Given the description of an element on the screen output the (x, y) to click on. 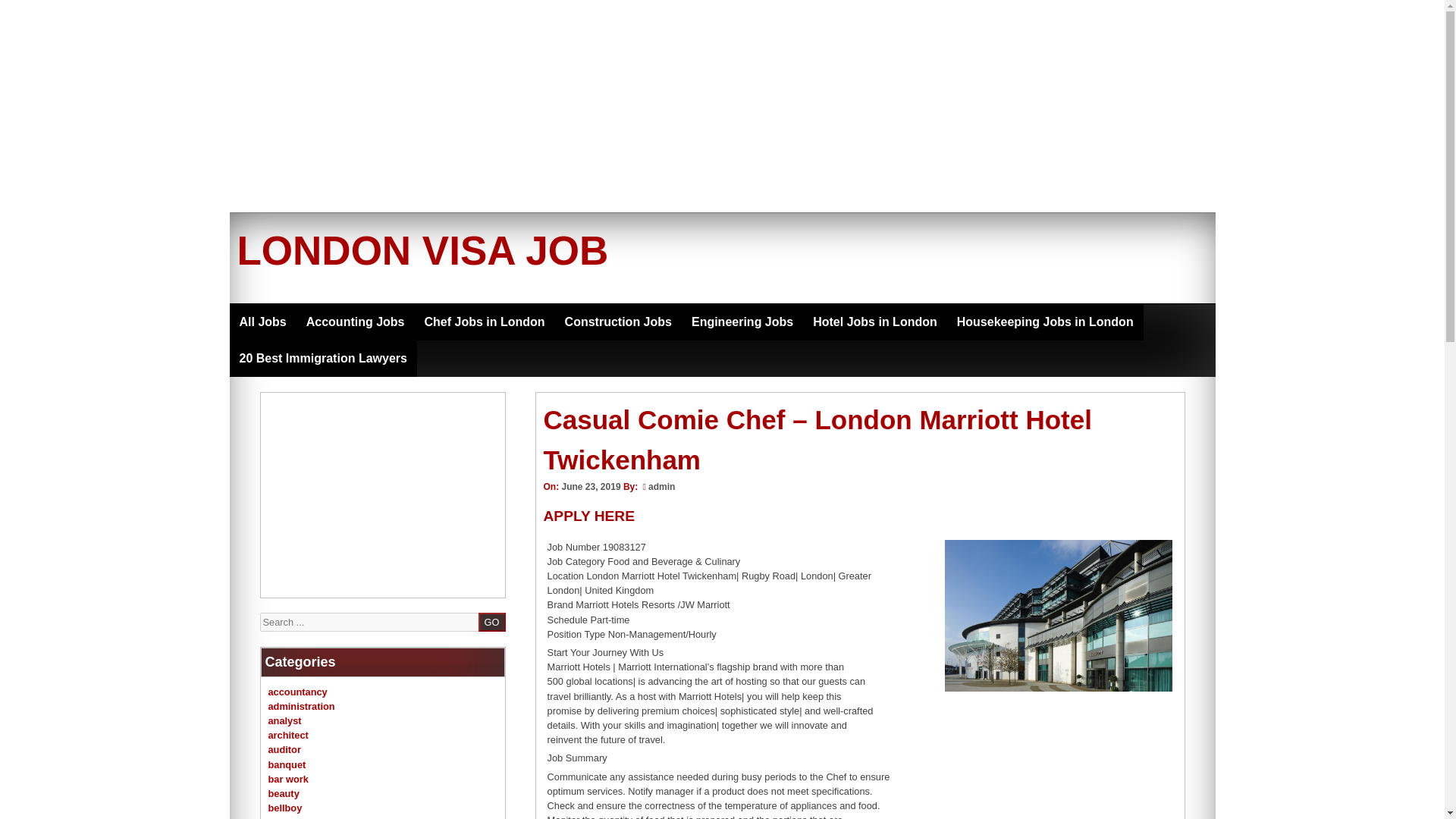
APPLY HERE (588, 515)
Hotel Jobs in London (875, 321)
architect (287, 735)
accountancy (297, 691)
business (288, 817)
Engineering Jobs (742, 321)
admin (661, 486)
beauty (283, 793)
GO (492, 621)
Construction Jobs (617, 321)
LONDON VISA JOB (421, 250)
bellboy (284, 808)
administration (300, 706)
Advertisement (382, 494)
